Given the description of an element on the screen output the (x, y) to click on. 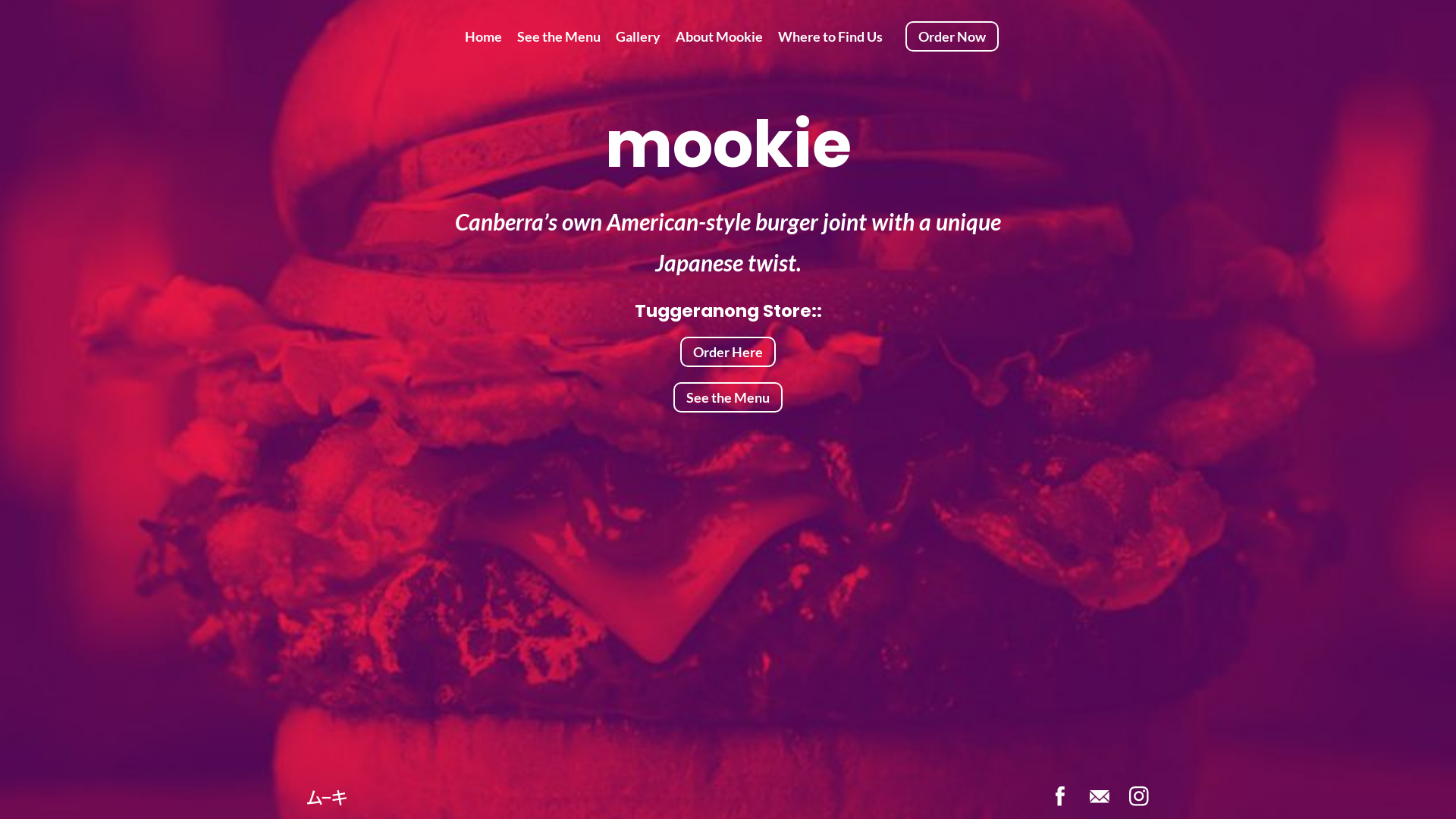
About Mookie Element type: text (718, 35)
Order Here Element type: text (727, 351)
Where to Find Us Element type: text (830, 35)
See the Menu Element type: text (727, 397)
Order Now Element type: text (951, 36)
Gallery Element type: text (637, 35)
See the Menu Element type: text (558, 35)
Home Element type: text (483, 35)
